Given the description of an element on the screen output the (x, y) to click on. 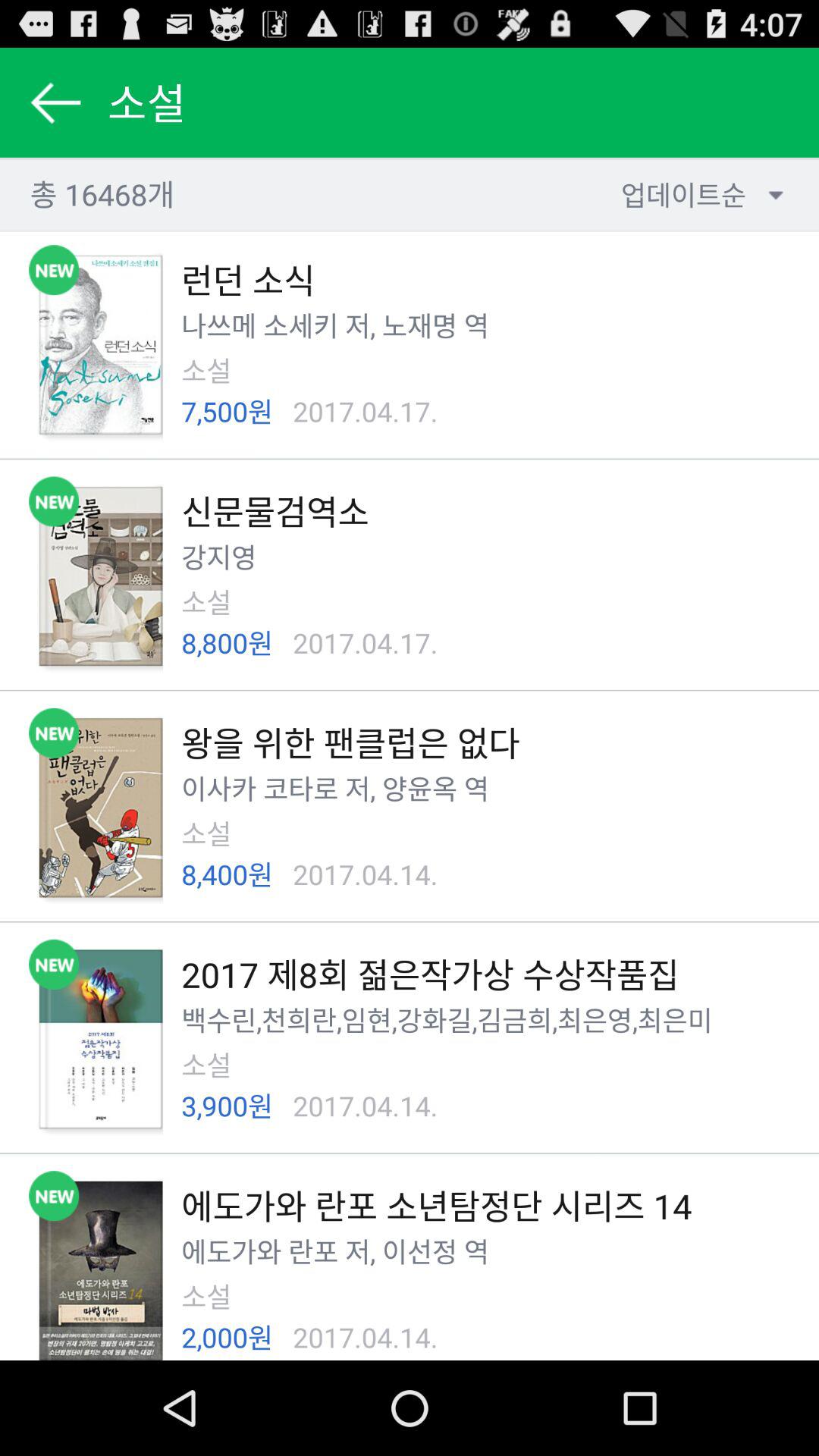
launch item next to 2017.04.17. (227, 411)
